Given the description of an element on the screen output the (x, y) to click on. 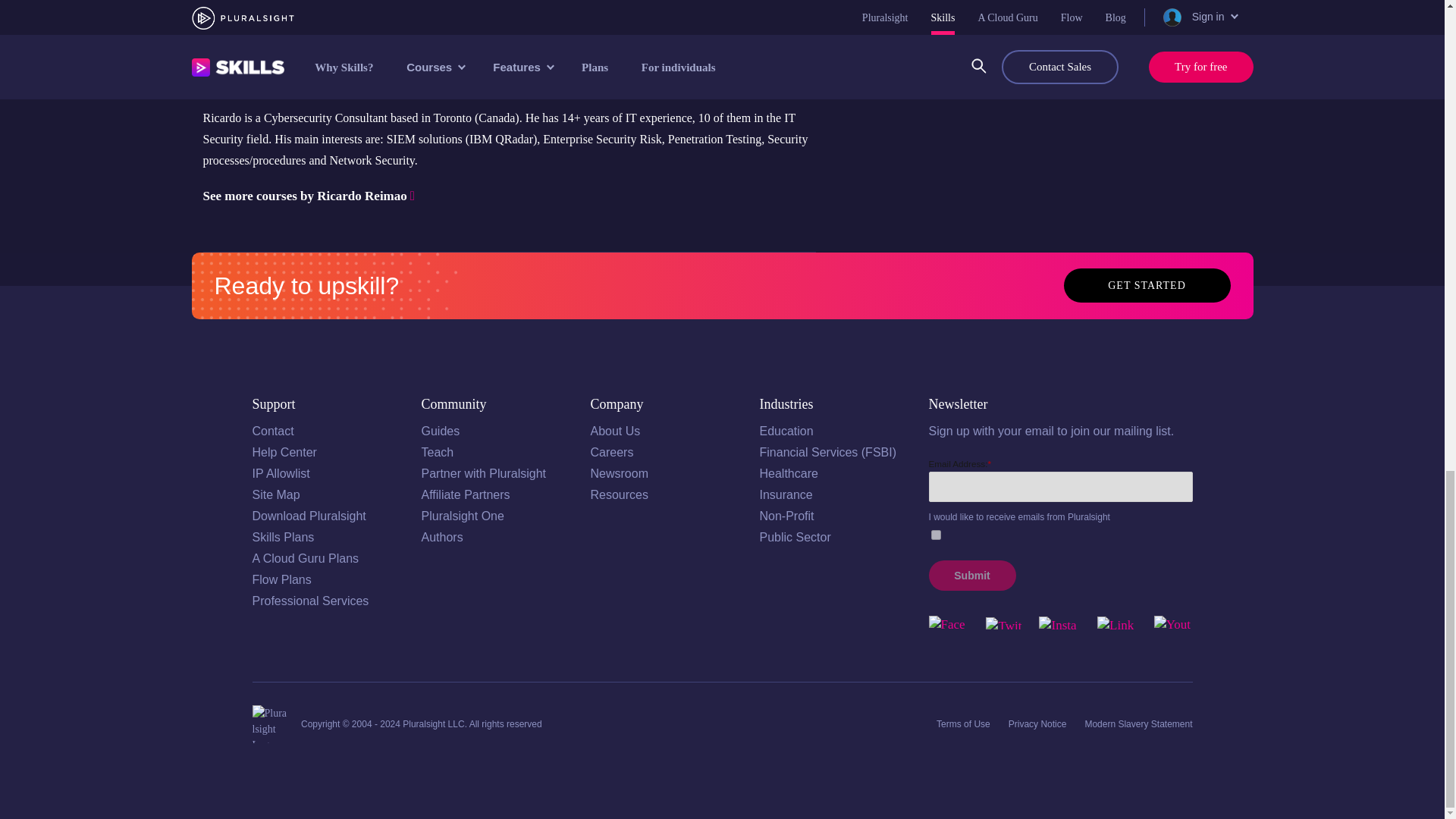
yes (935, 534)
Get started (1146, 285)
